Given the description of an element on the screen output the (x, y) to click on. 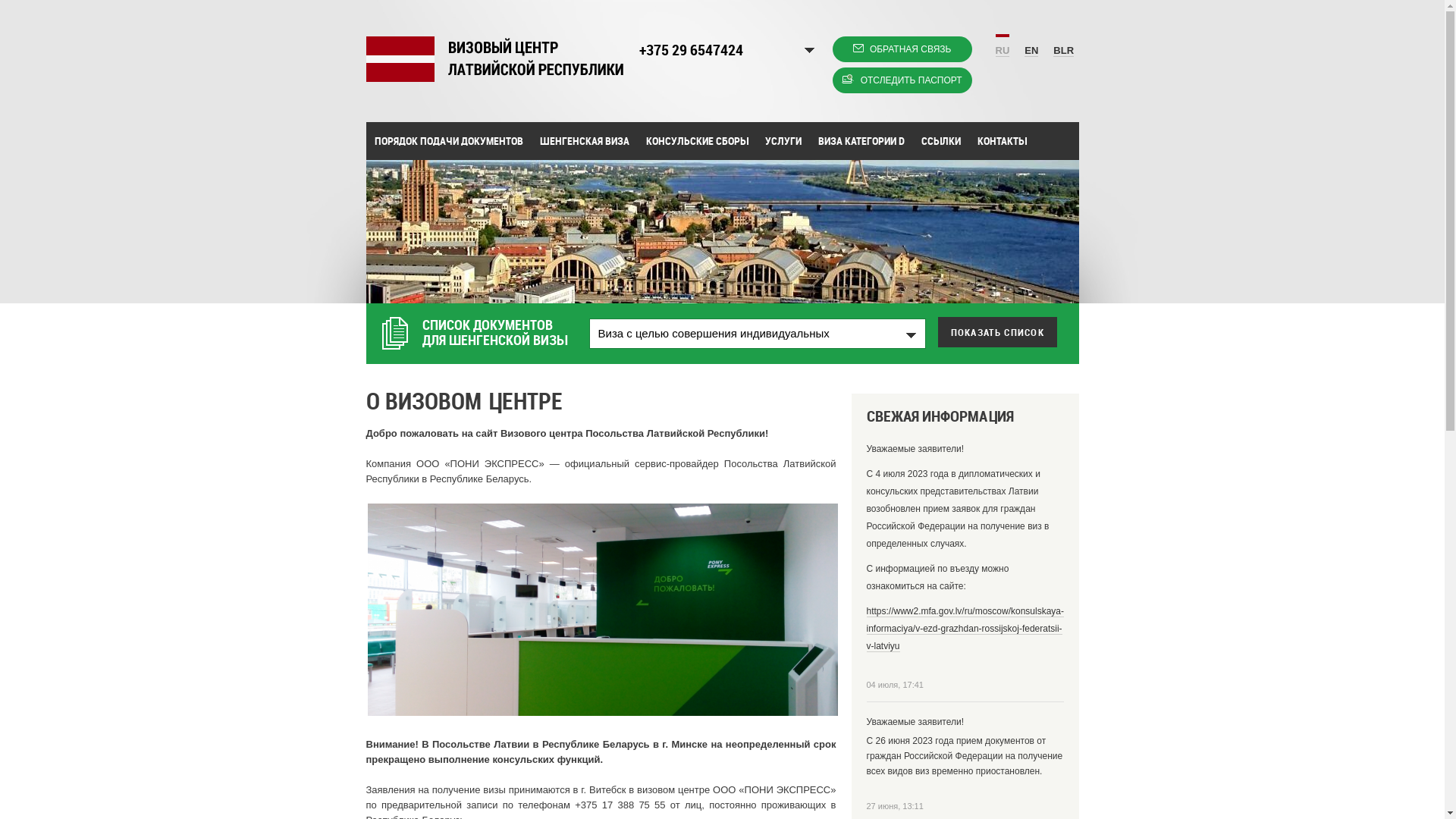
BLR Element type: text (1063, 46)
RU Element type: text (1001, 45)
EN Element type: text (1031, 46)
